Given the description of an element on the screen output the (x, y) to click on. 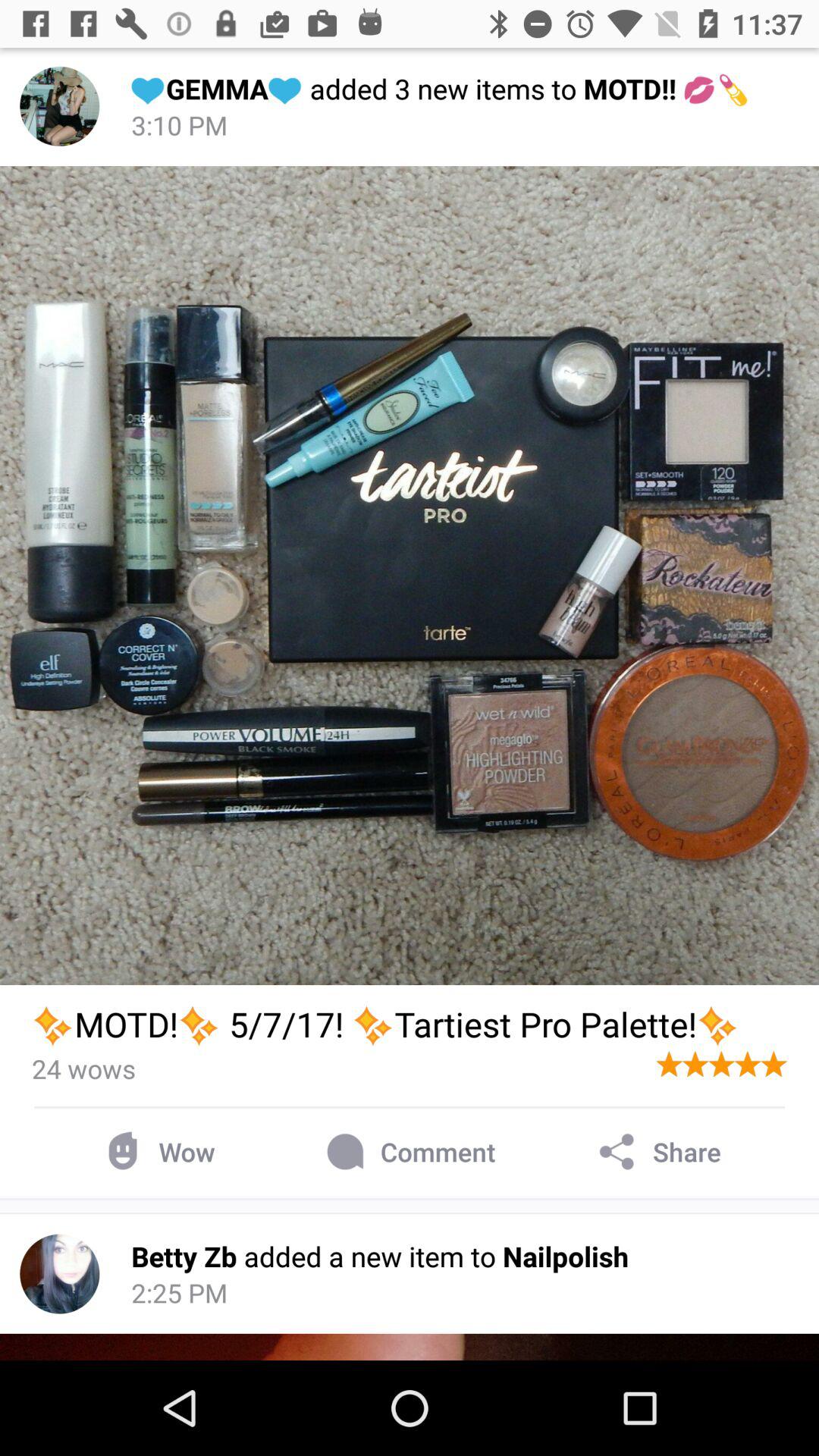
click on 24 wows (83, 1068)
click on the picture beside betty (59, 1274)
image icon left to the header text (59, 106)
